Given the description of an element on the screen output the (x, y) to click on. 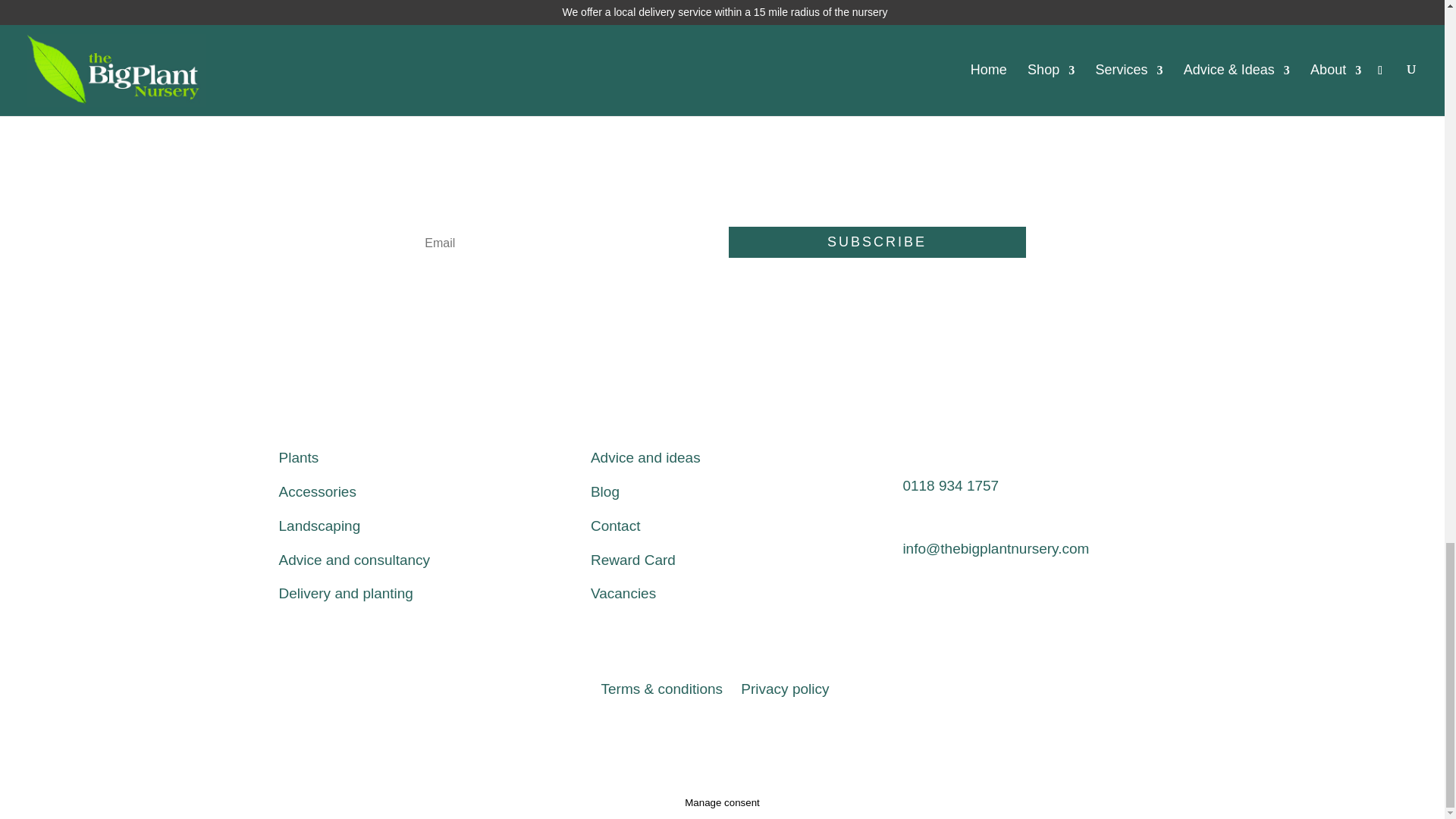
Landscaping (320, 525)
Plants (298, 457)
Accessories (317, 491)
Delivery and planting (346, 593)
Advice and consultancy (354, 560)
